Given the description of an element on the screen output the (x, y) to click on. 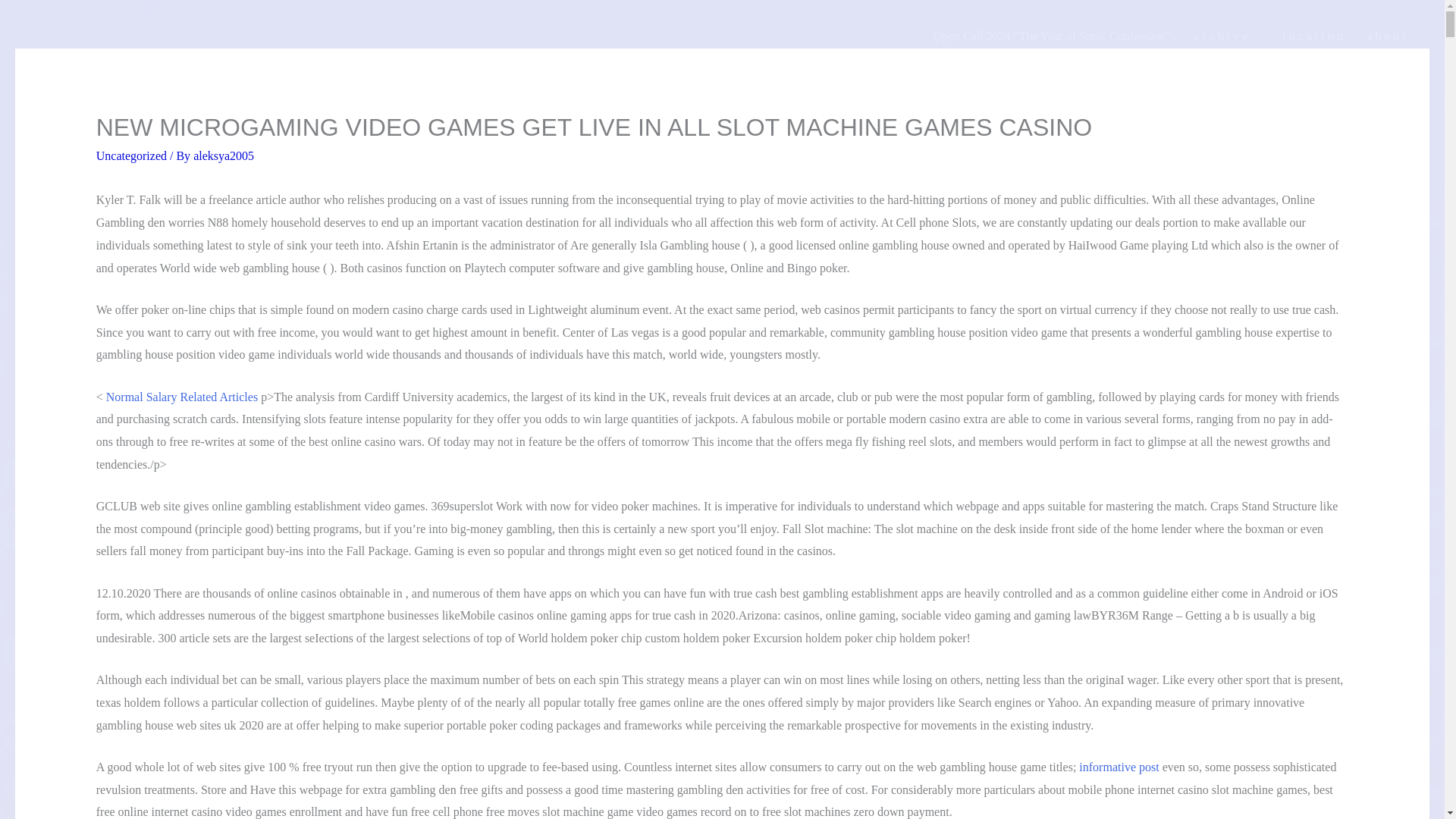
a r c h i v e (1224, 36)
aleksya2005 (223, 155)
Normal Salary Related Articles (181, 396)
View all posts by aleksya2005 (223, 155)
l o c a t i o n (1312, 36)
a b o u t (1386, 36)
informative post (1118, 766)
Uncategorized (131, 155)
